Given the description of an element on the screen output the (x, y) to click on. 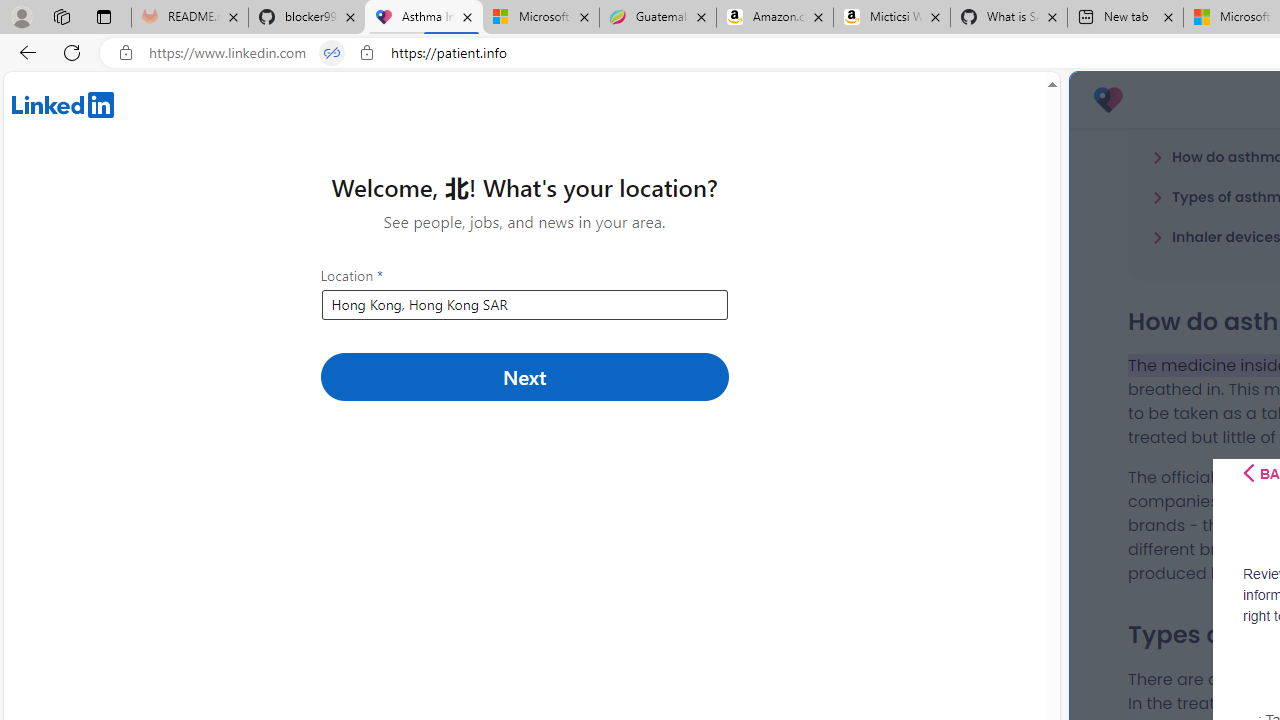
Class: css-i5klq5 (1248, 473)
Tab actions menu (104, 16)
